Given the description of an element on the screen output the (x, y) to click on. 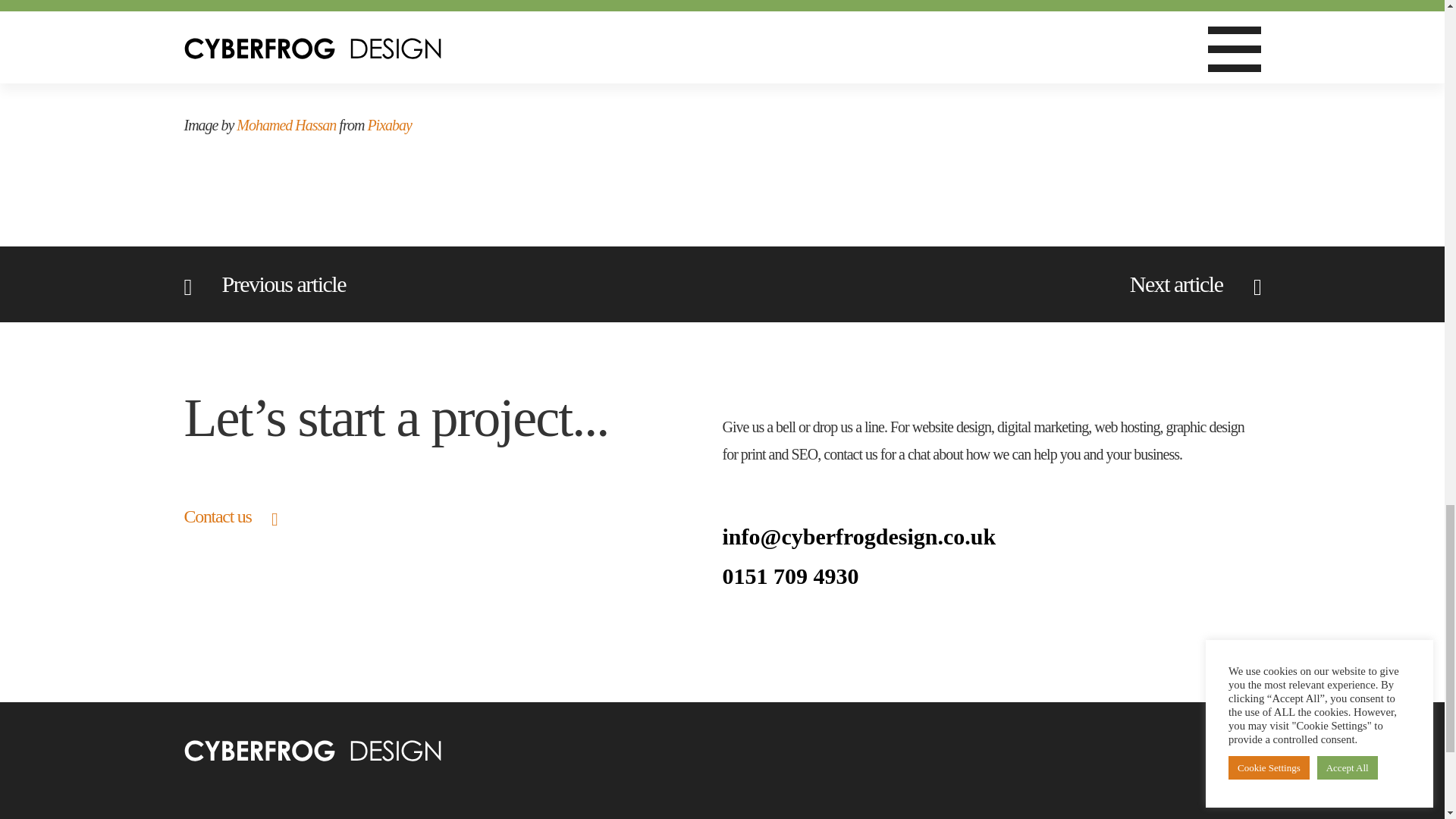
0151 709 4930 (991, 576)
Next article (1194, 284)
Pixabay (389, 124)
Previous article (264, 284)
Contact us (229, 515)
Mohamed Hassan (285, 124)
